Given the description of an element on the screen output the (x, y) to click on. 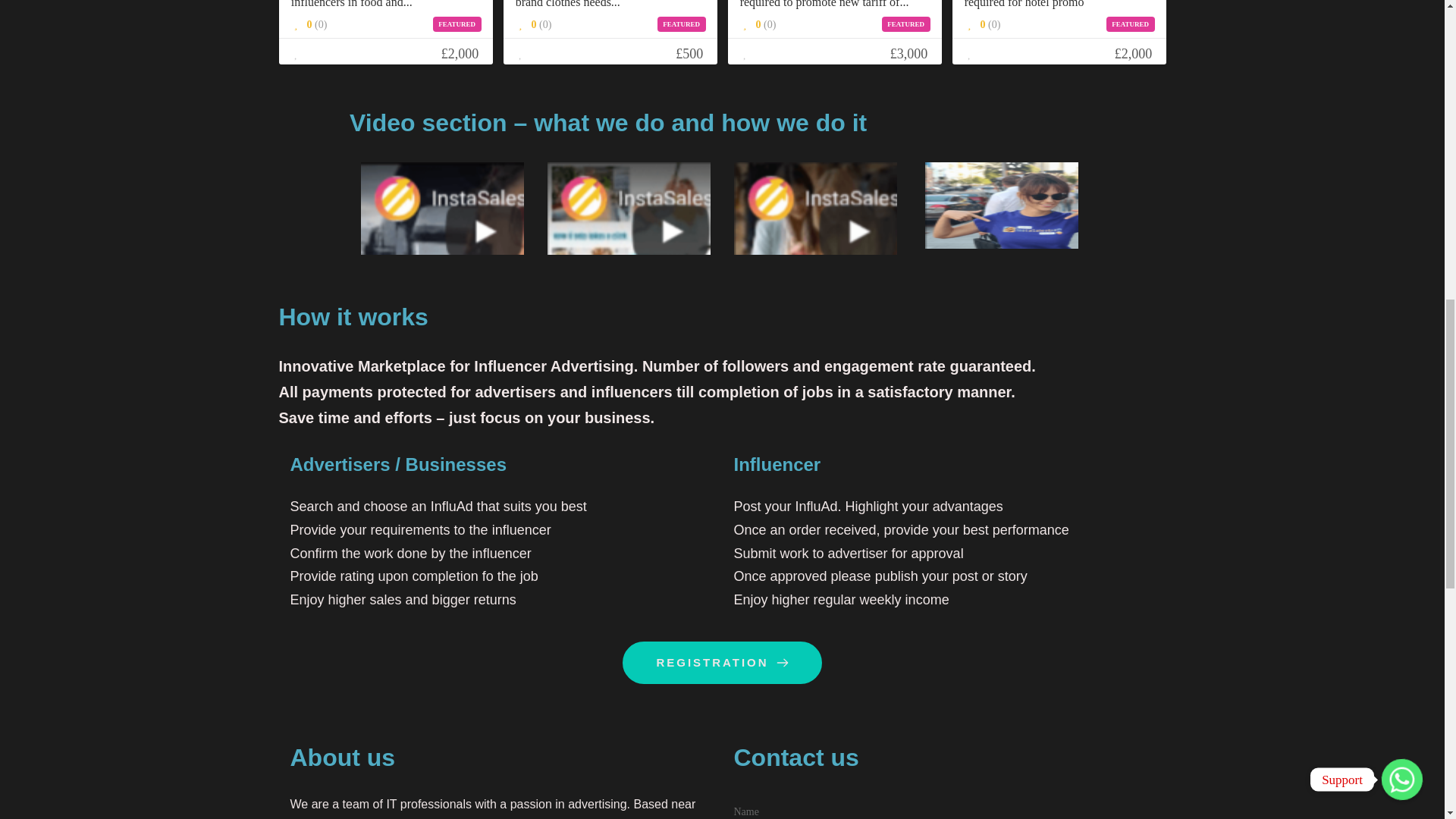
online shop for discounted old season brand clothes needs... (609, 5)
REGISTRATION (722, 662)
